Given the description of an element on the screen output the (x, y) to click on. 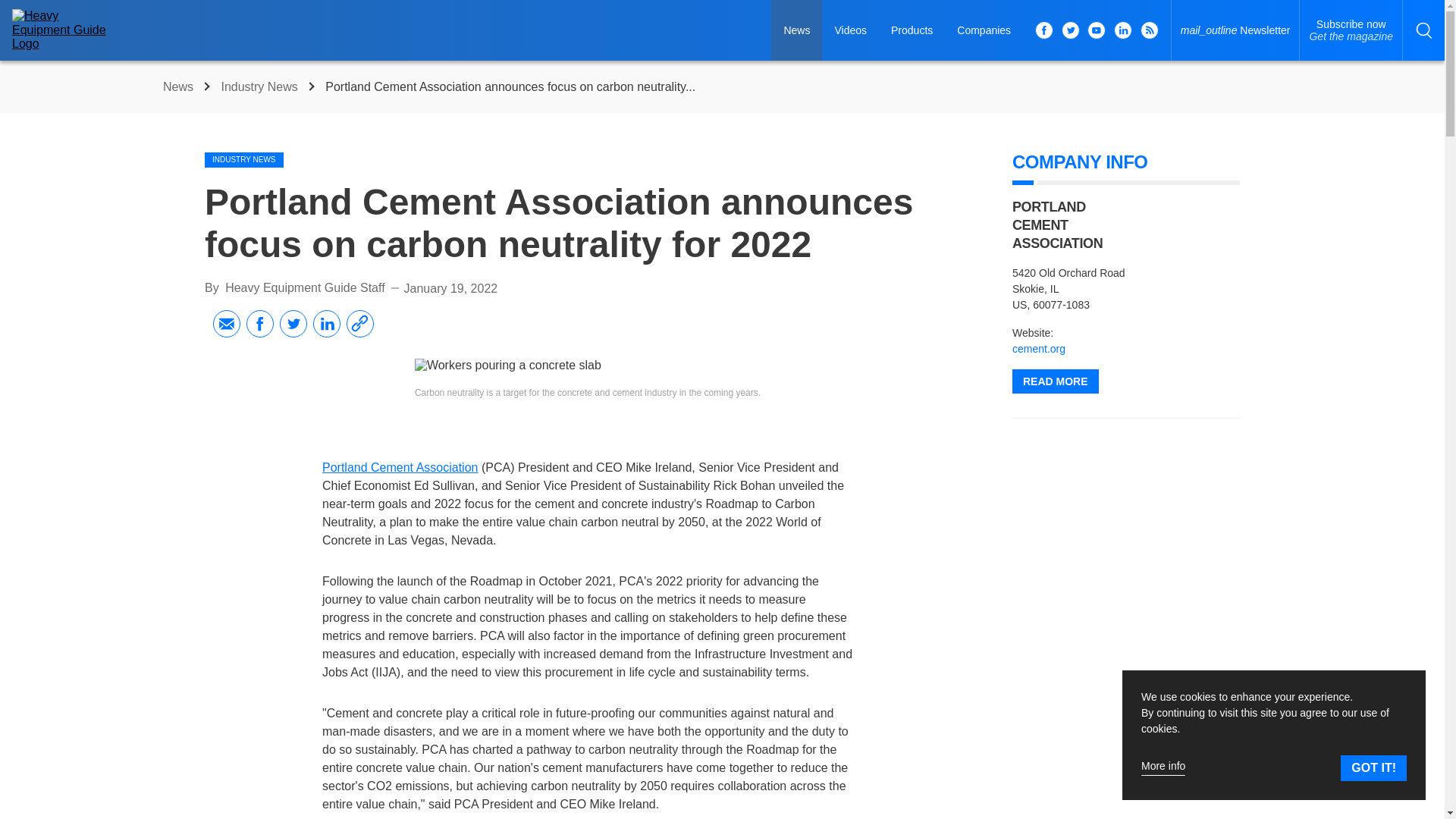
Portland Cement Association (399, 467)
READ MORE (1351, 30)
cement.org (1055, 381)
Industry News (1038, 348)
Heavy Equipment Guide Staff (261, 86)
Companies (305, 287)
Products (983, 30)
News (911, 30)
Workers pouring a concrete slab (179, 86)
